Given the description of an element on the screen output the (x, y) to click on. 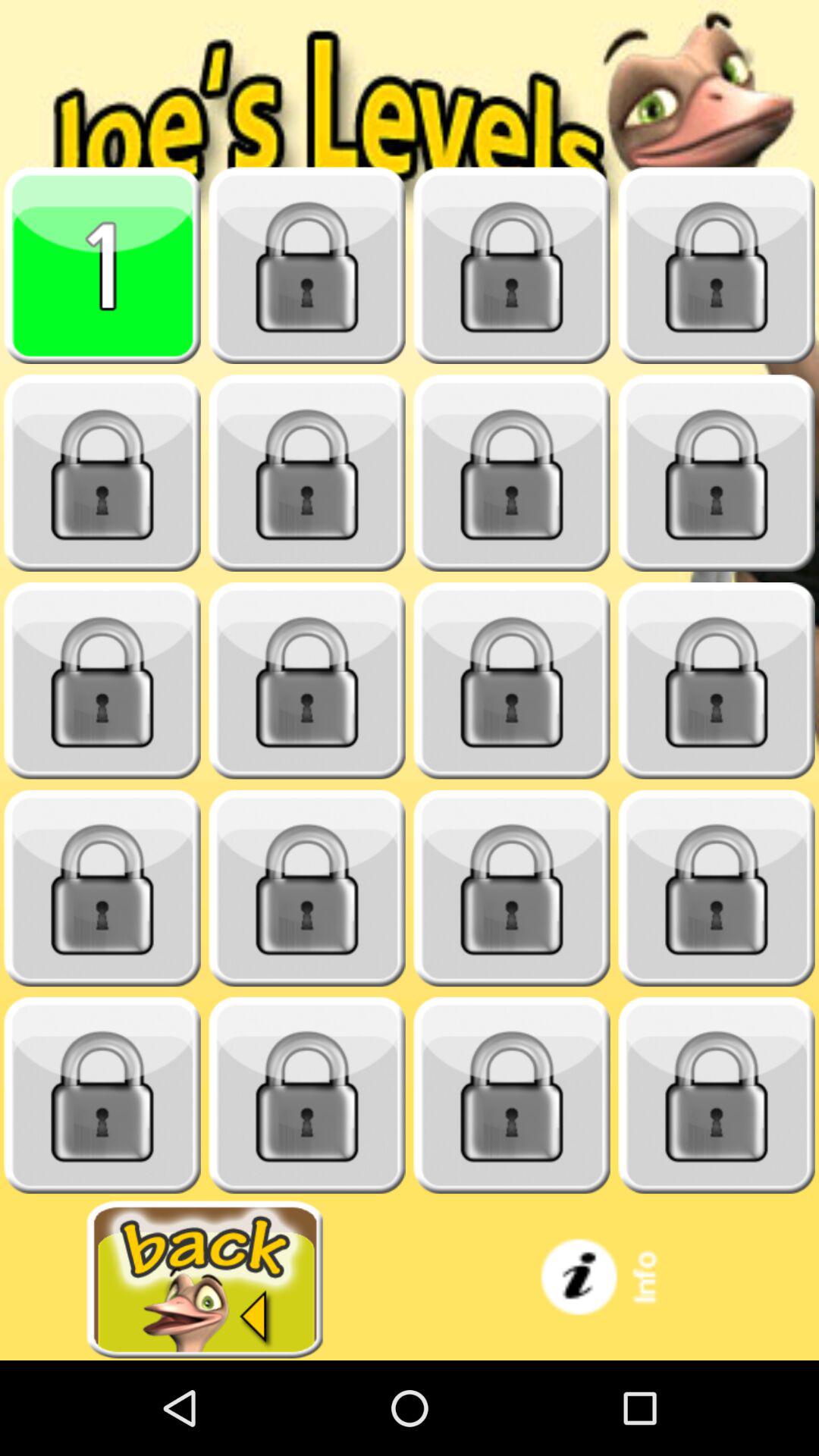
unlock section (306, 887)
